Given the description of an element on the screen output the (x, y) to click on. 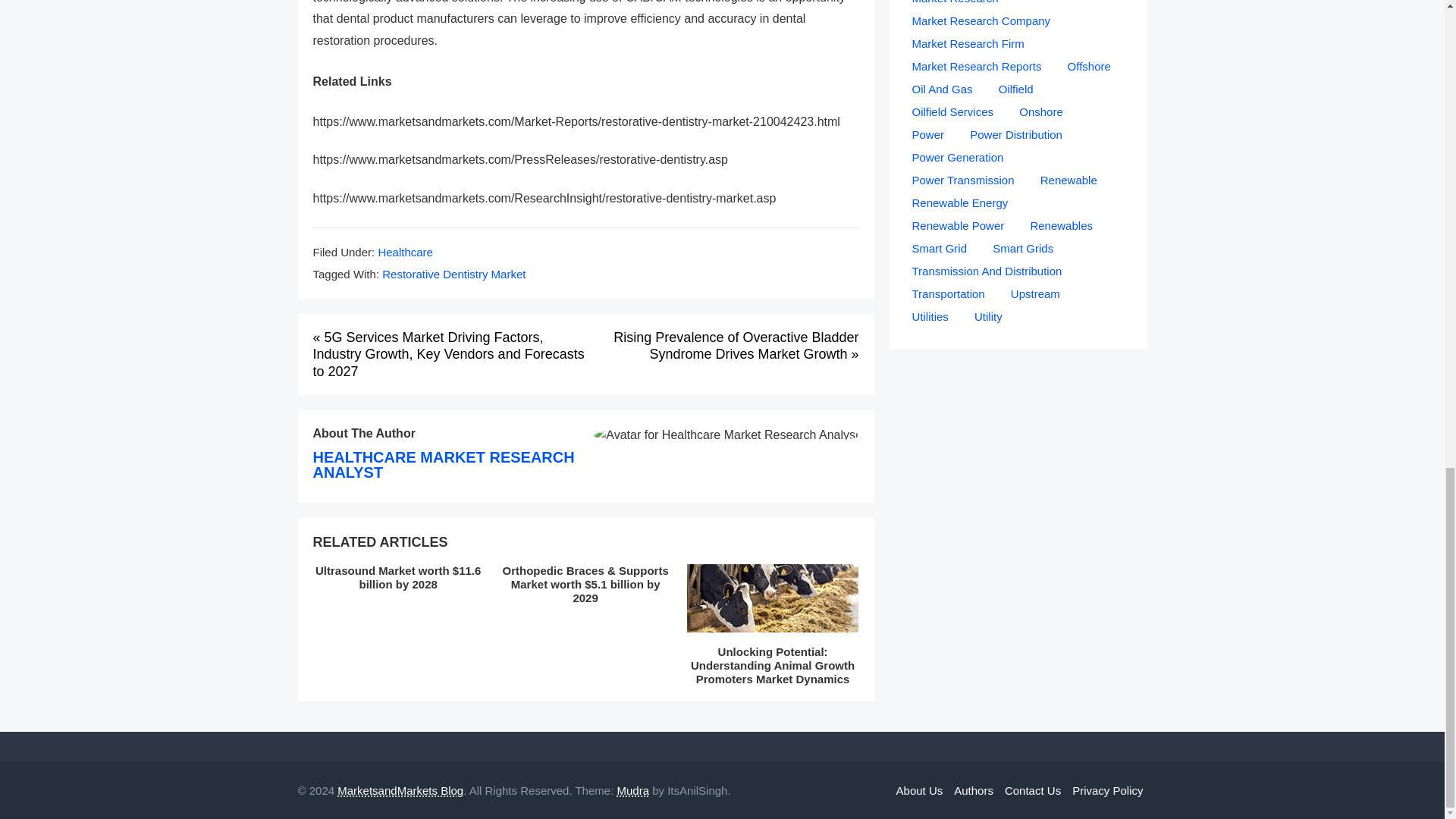
Gravatar for Healthcare Market Research Analyst (726, 435)
MarketsandMarkets Blog (400, 789)
Mudra (632, 789)
